Given the description of an element on the screen output the (x, y) to click on. 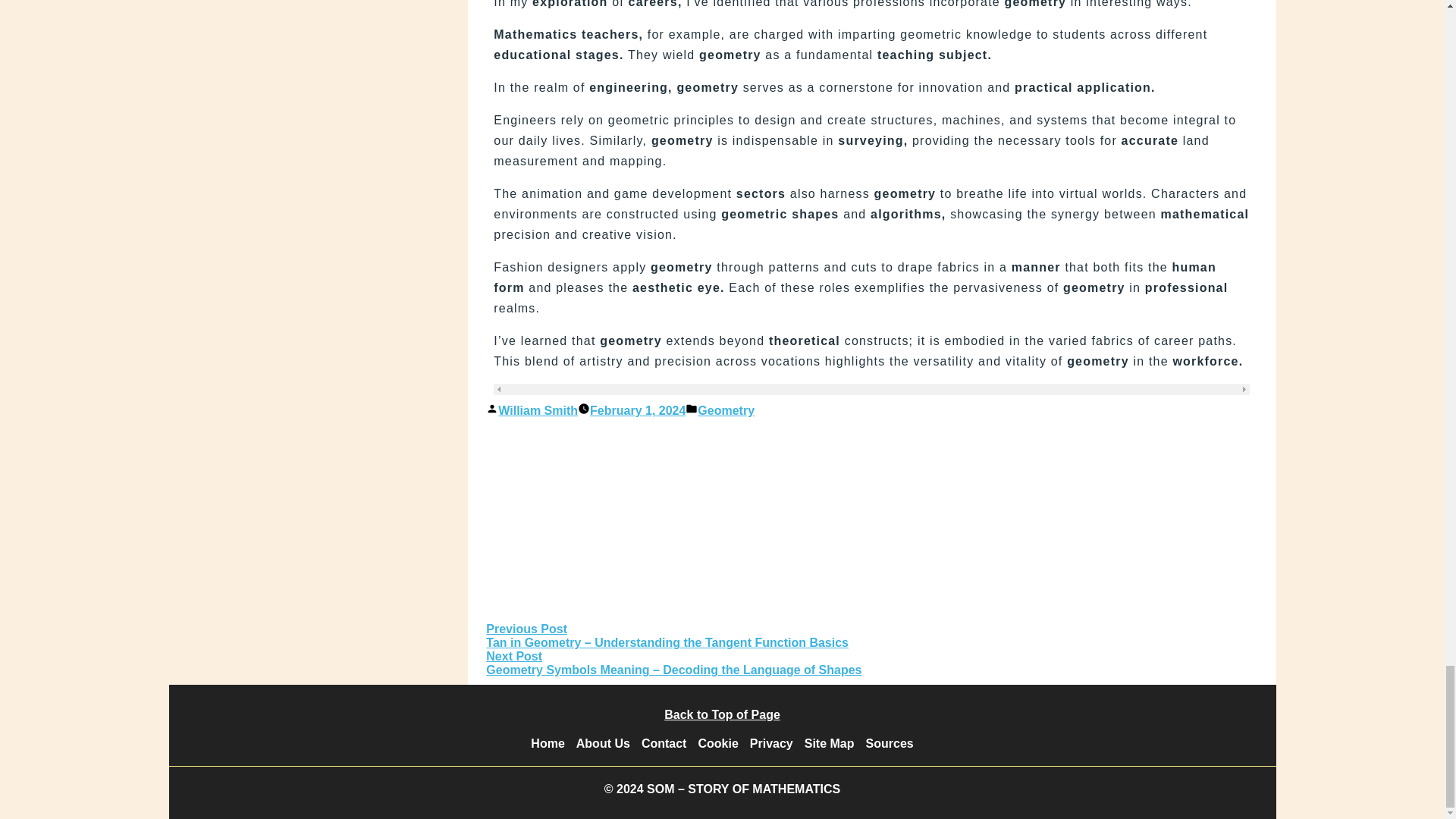
William Smith (537, 410)
February 1, 2024 (637, 410)
Geometry (725, 410)
